Given the description of an element on the screen output the (x, y) to click on. 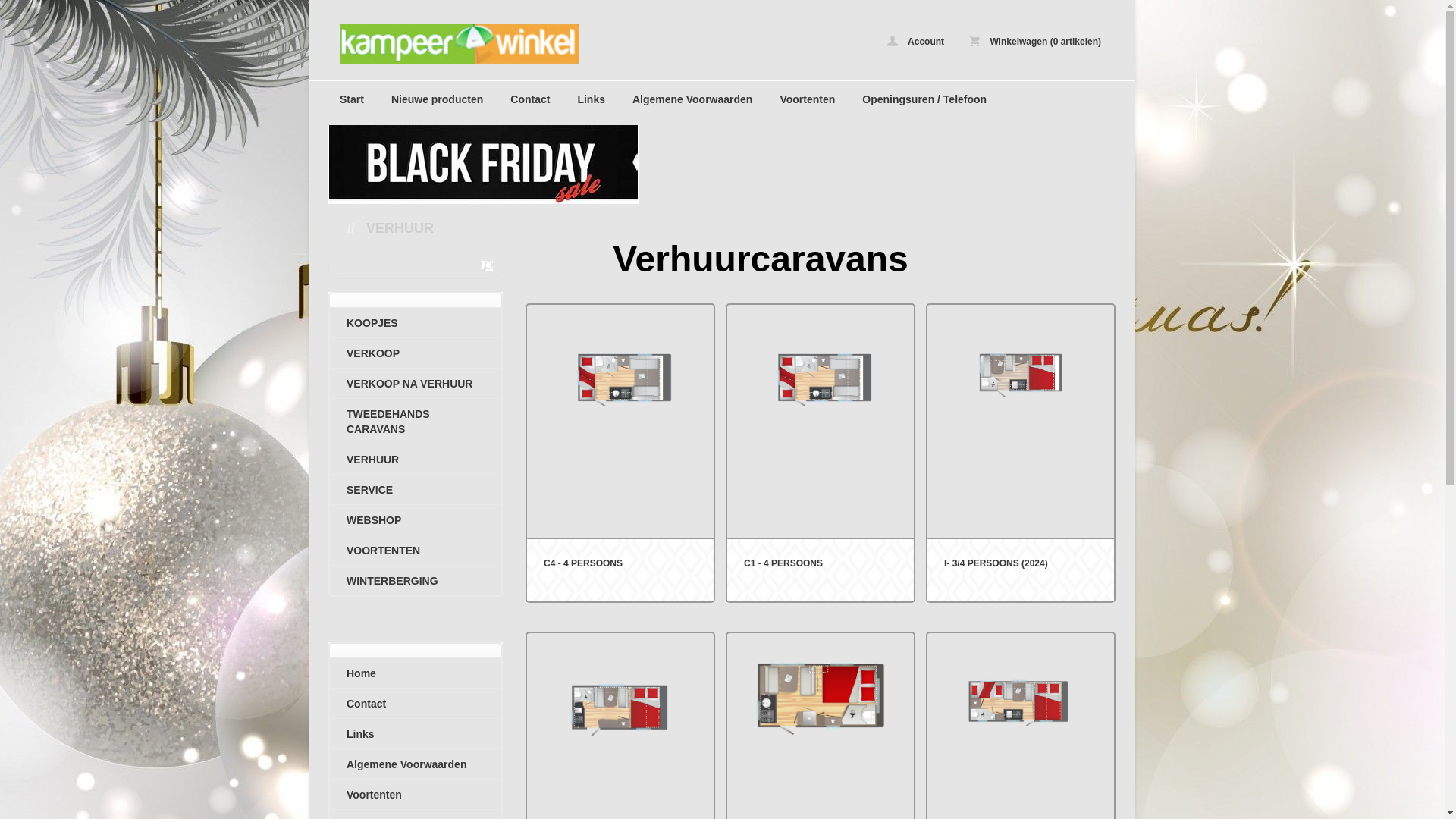
KOOPJES Element type: text (415, 322)
VERKOOP Element type: text (415, 352)
VOORTENTEN Element type: text (415, 549)
VERKOOP NA VERHUUR Element type: text (415, 383)
SERVICE Element type: text (415, 489)
Openingsuren / Telefoon Element type: text (924, 98)
I- 3/4 PERSOONS (2024) Element type: text (1020, 452)
Start Element type: text (351, 98)
Zoeken Element type: hover (487, 265)
Account Element type: text (915, 40)
VERHUUR Element type: text (399, 227)
C1 - 4 PERSOONS Element type: text (820, 452)
C4 - 4 PERSOONS Element type: text (620, 452)
Home Element type: text (415, 672)
Algemene Voorwaarden Element type: text (415, 763)
VERHUUR - caravans-de-block Element type: text (529, 43)
TWEEDEHANDS CARAVANS Element type: text (415, 420)
WEBSHOP Element type: text (415, 519)
Algemene Voorwaarden Element type: text (691, 98)
Contact Element type: text (415, 703)
Voortenten Element type: text (807, 98)
Links Element type: text (415, 733)
Contact Element type: text (529, 98)
Nieuwe producten Element type: text (436, 98)
Links Element type: text (590, 98)
Voortenten Element type: text (415, 794)
VERHUUR Element type: text (415, 458)
WINTERBERGING Element type: text (415, 580)
Winkelwagen (0 artikelen) Element type: text (1034, 40)
